Given the description of an element on the screen output the (x, y) to click on. 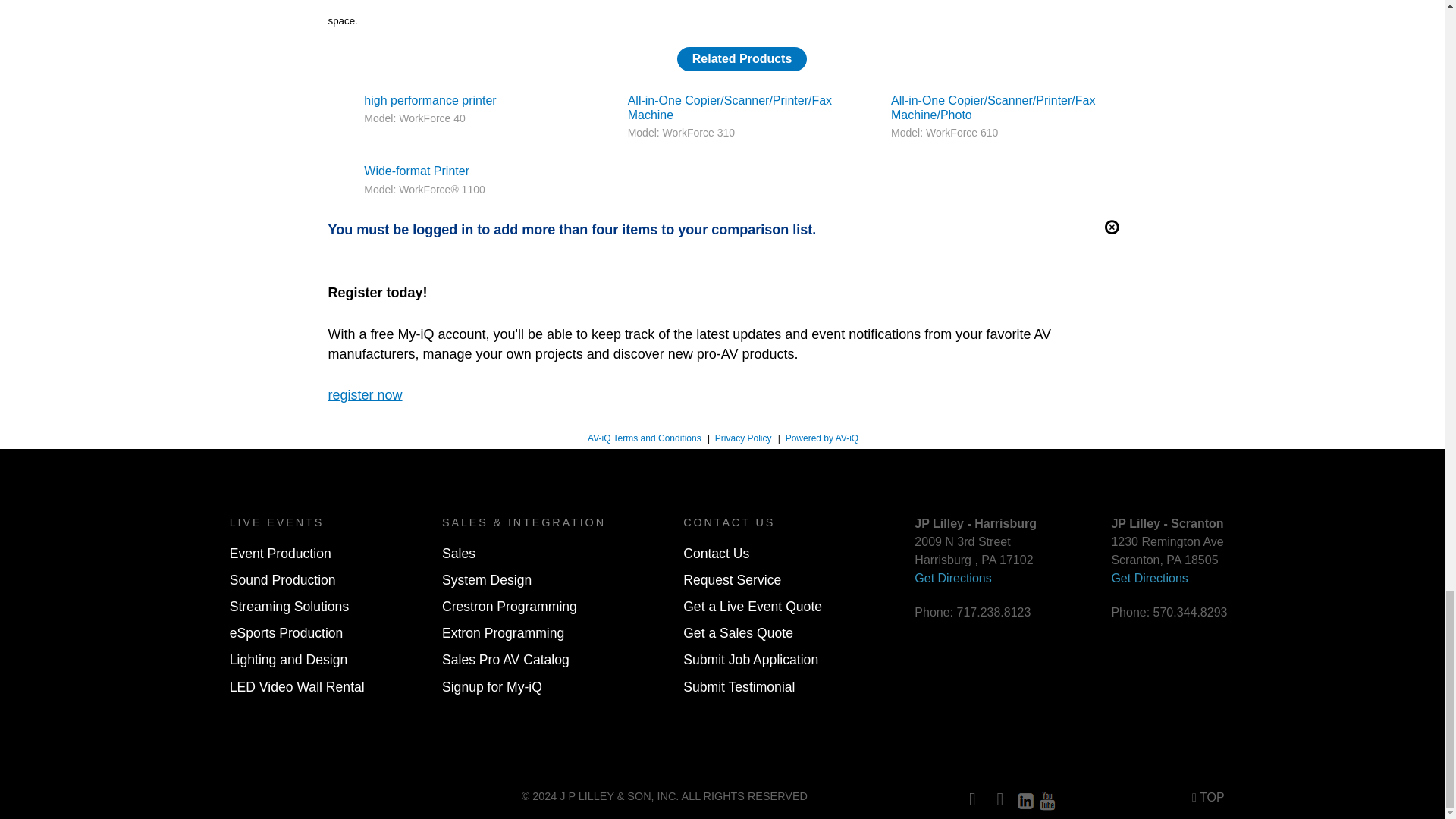
Sales Pro AV Catalog (505, 659)
eSports Production (286, 632)
Extron Programming (503, 632)
Signup for My-iQ (491, 686)
Sales (459, 553)
Lighting and Design (288, 659)
Contact Us (715, 553)
Request Service (731, 580)
Crestron Programming (509, 606)
Event Production (280, 553)
LED Video Wall Rental (297, 686)
Sound Production (283, 580)
Streaming Solutions (289, 606)
System Design (486, 580)
